Given the description of an element on the screen output the (x, y) to click on. 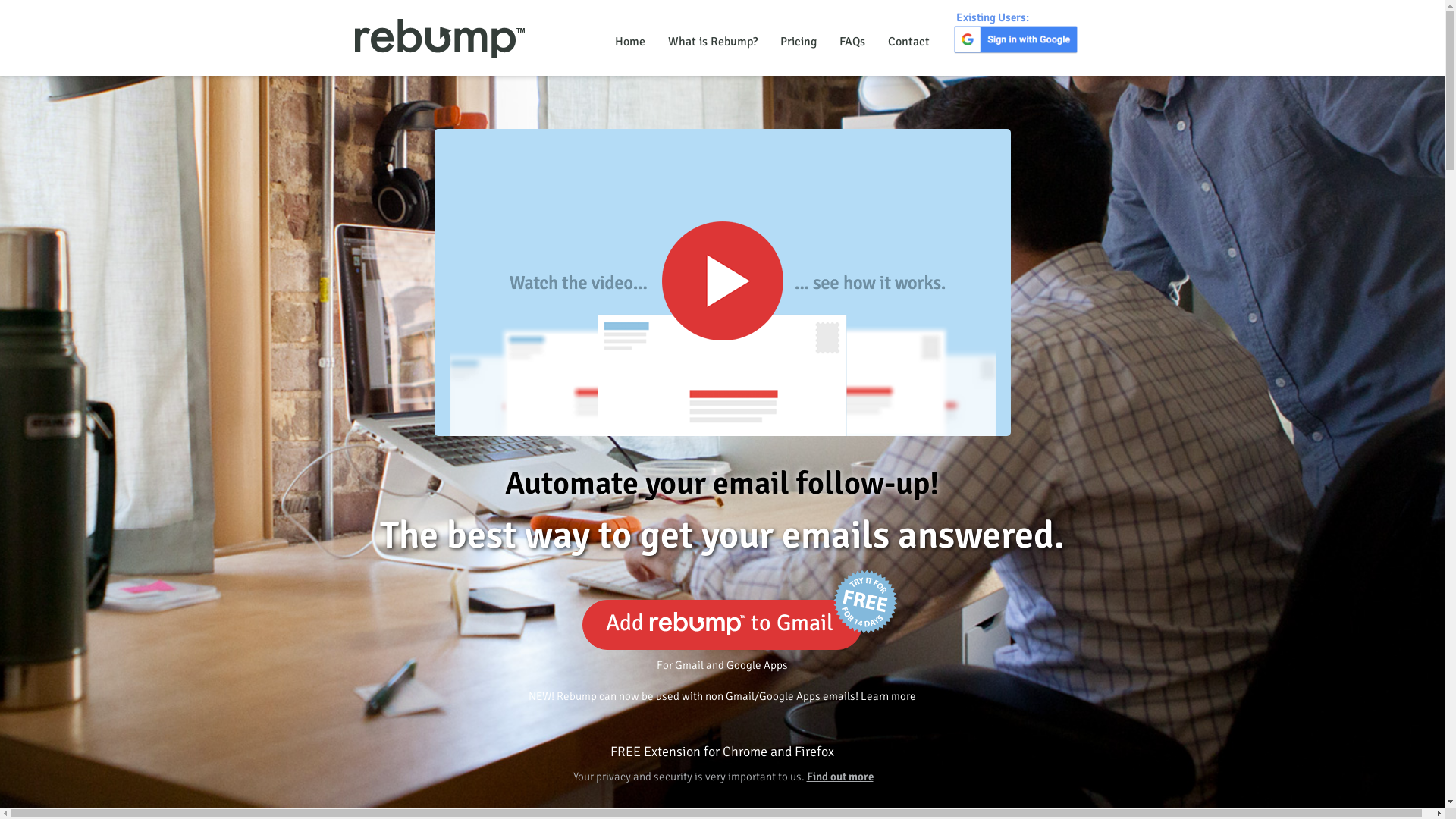
Contact Element type: text (908, 41)
Find out more Element type: text (839, 776)
Pricing Element type: text (798, 41)
FAQs Element type: text (852, 41)
Add to Gmail free Element type: text (722, 624)
Home Element type: text (630, 41)
Learn more Element type: text (888, 695)
What is Rebump? Element type: text (712, 41)
